Given the description of an element on the screen output the (x, y) to click on. 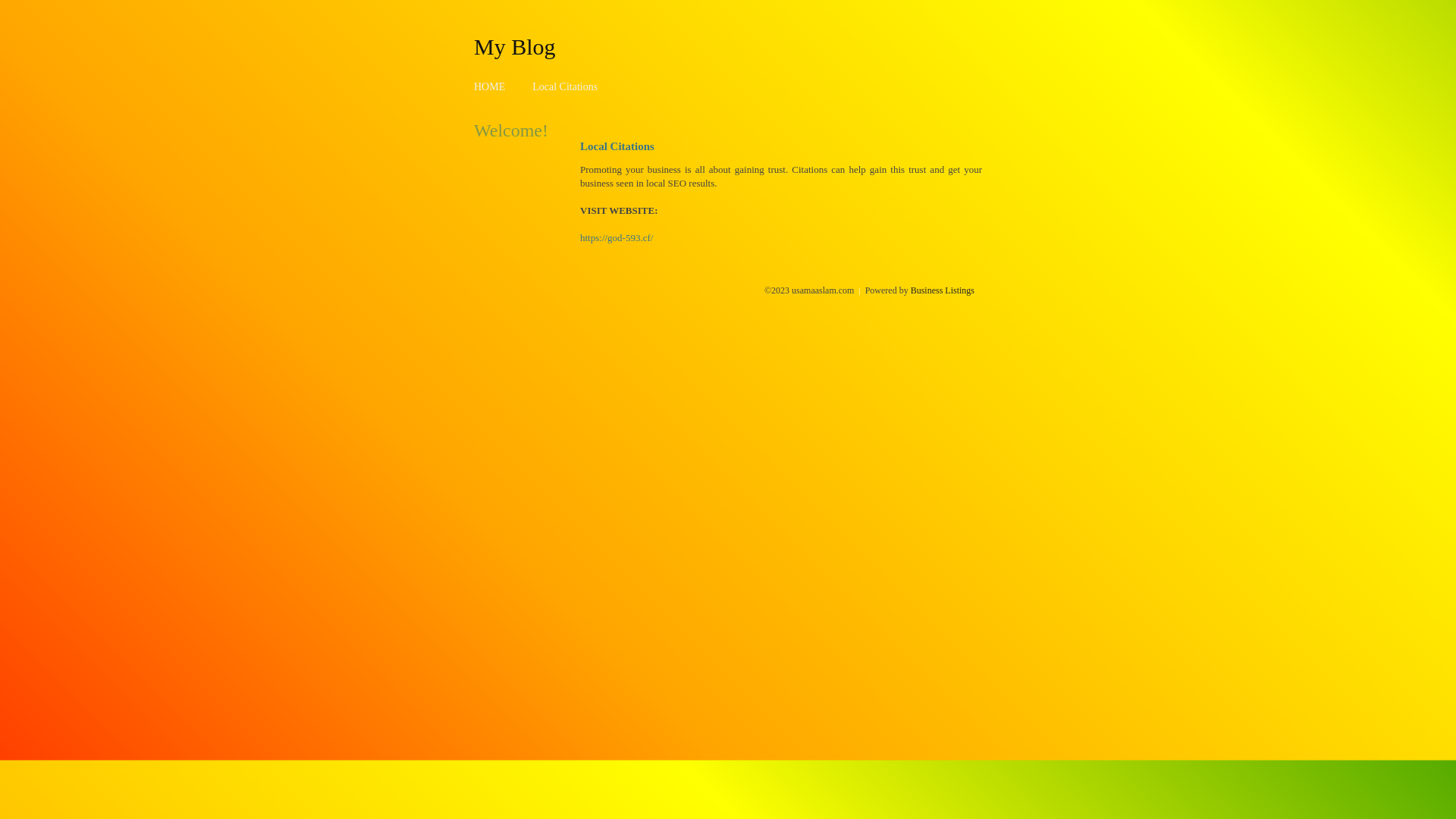
Business Listings Element type: text (942, 290)
My Blog Element type: text (514, 46)
https://god-593.cf/ Element type: text (616, 237)
Local Citations Element type: text (564, 86)
HOME Element type: text (489, 86)
